Given the description of an element on the screen output the (x, y) to click on. 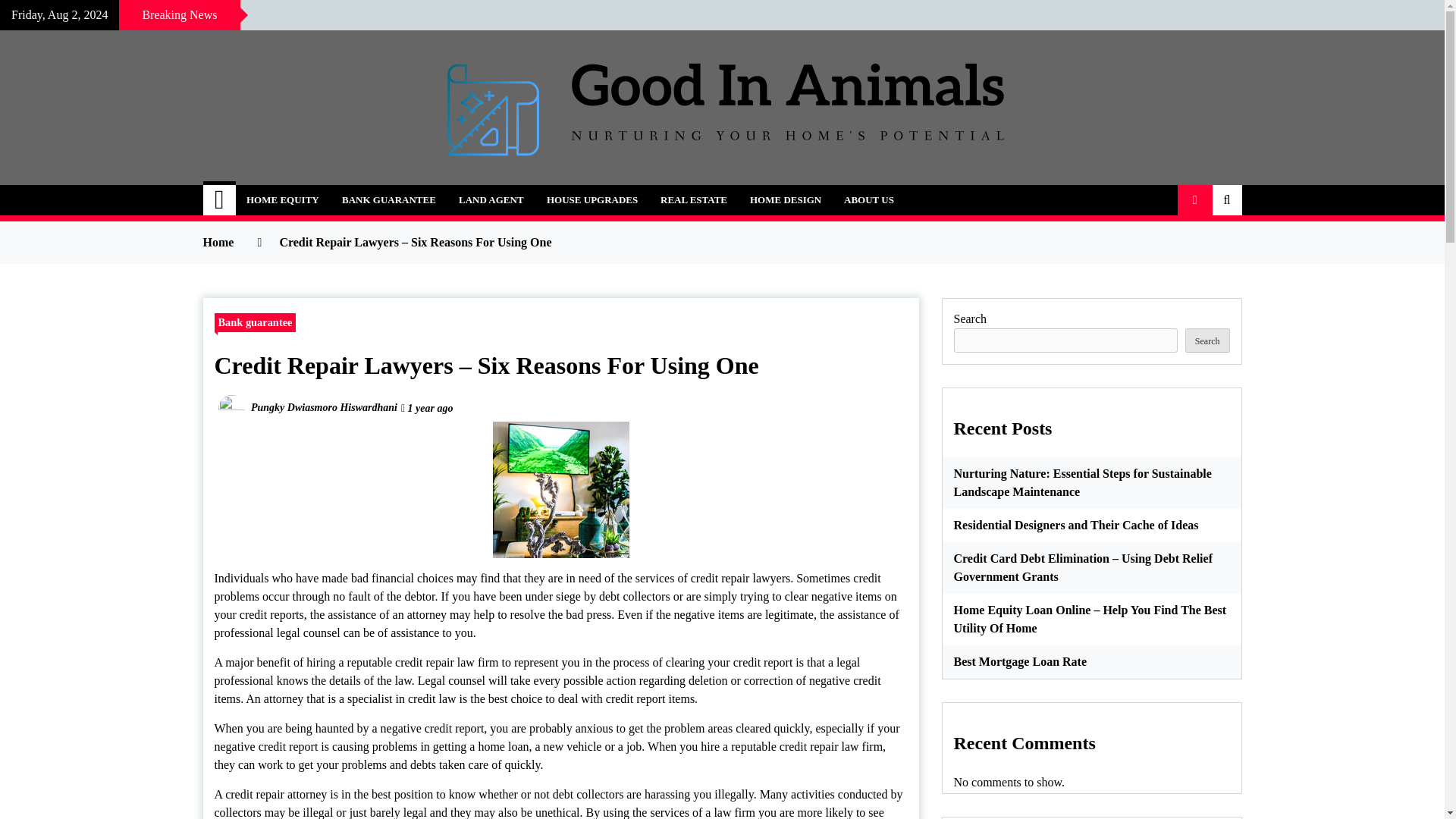
LAND AGENT (490, 200)
REAL ESTATE (693, 200)
ABOUT US (868, 200)
HOME DESIGN (785, 200)
BANK GUARANTEE (388, 200)
Home (219, 200)
Good In Animals (328, 191)
HOUSE UPGRADES (592, 200)
HOME EQUITY (282, 200)
